Given the description of an element on the screen output the (x, y) to click on. 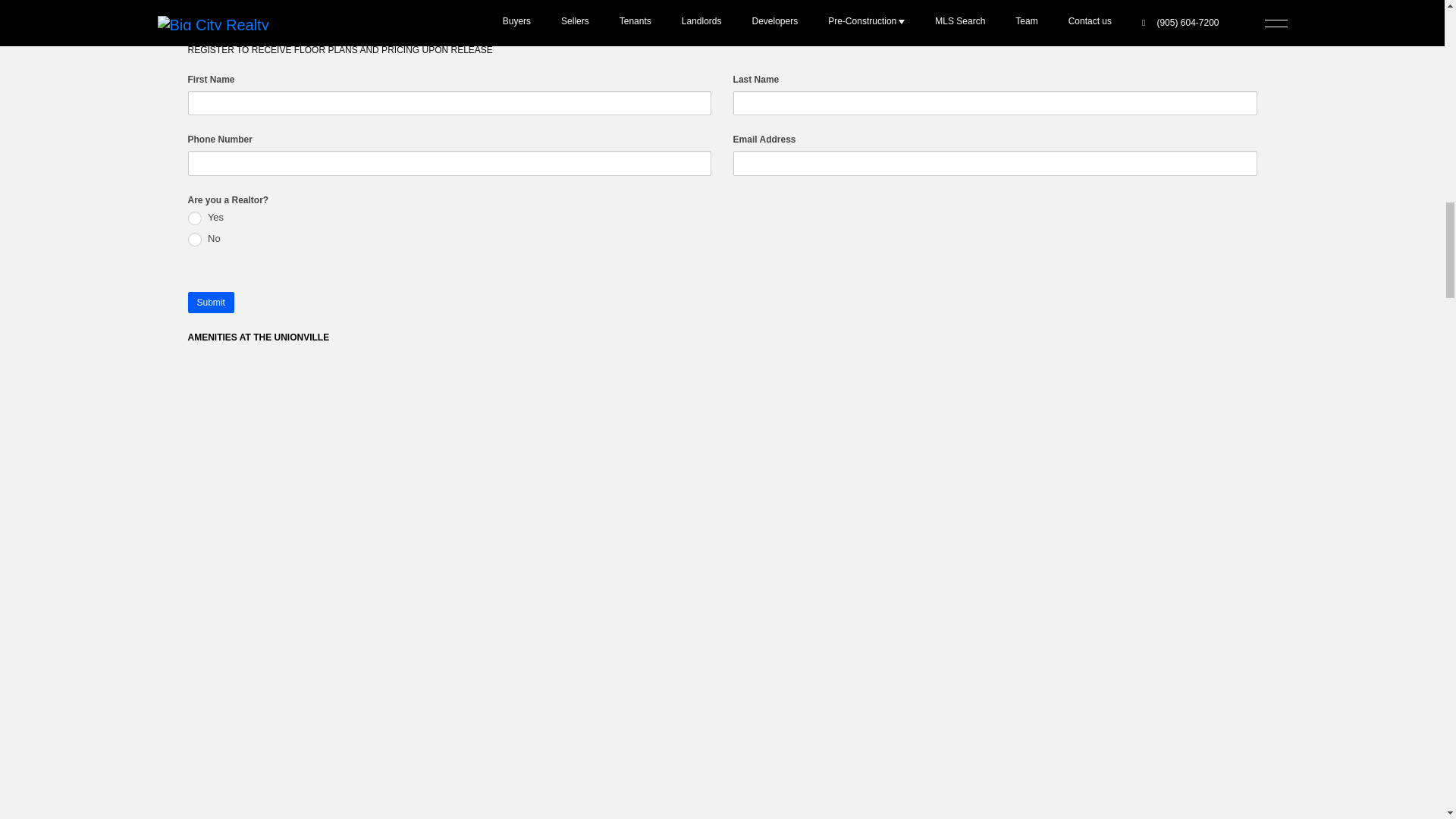
No (194, 238)
Yes (194, 217)
